Given the description of an element on the screen output the (x, y) to click on. 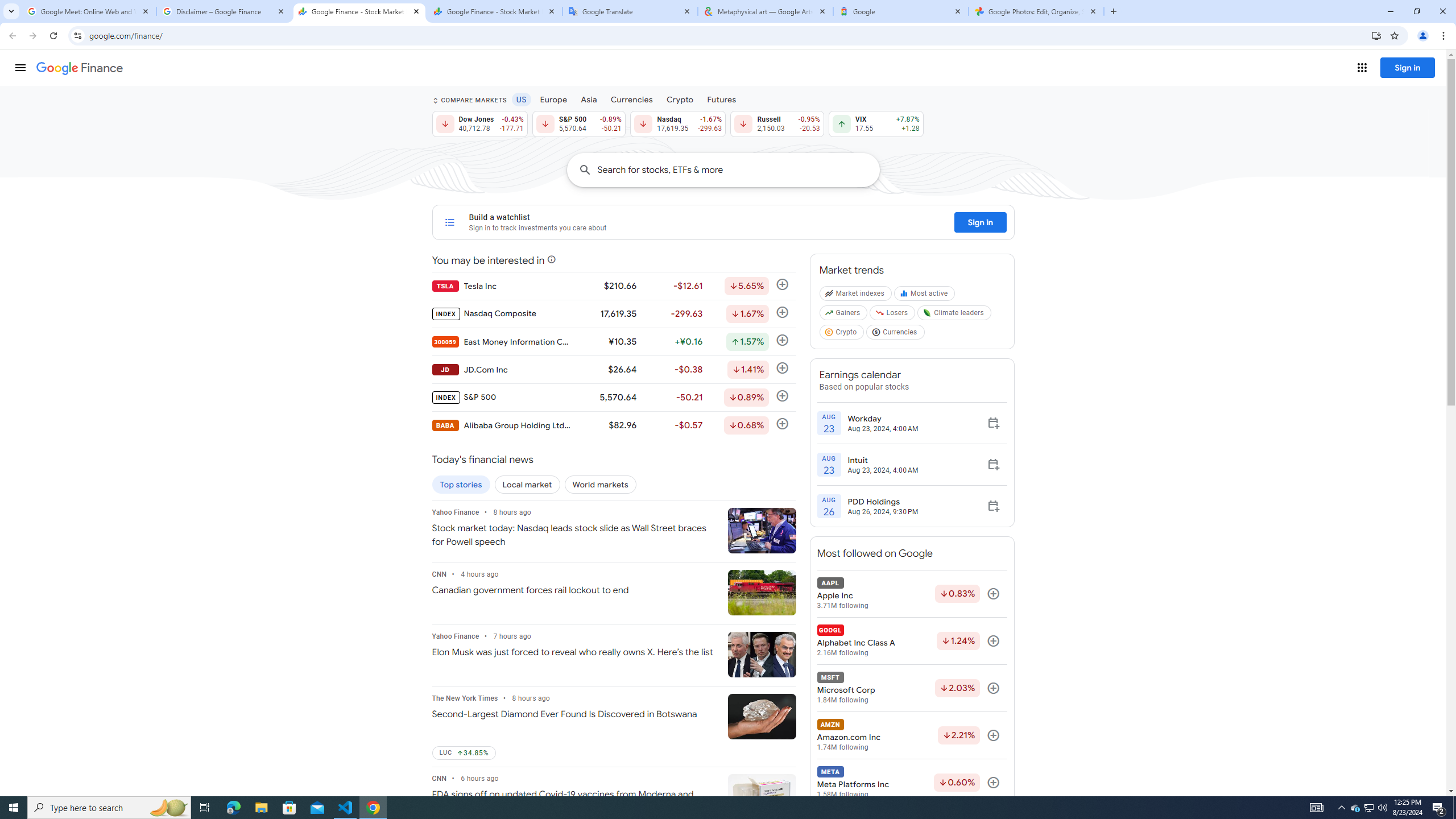
Market indexes (855, 295)
PDD Holdings (882, 501)
